Given the description of an element on the screen output the (x, y) to click on. 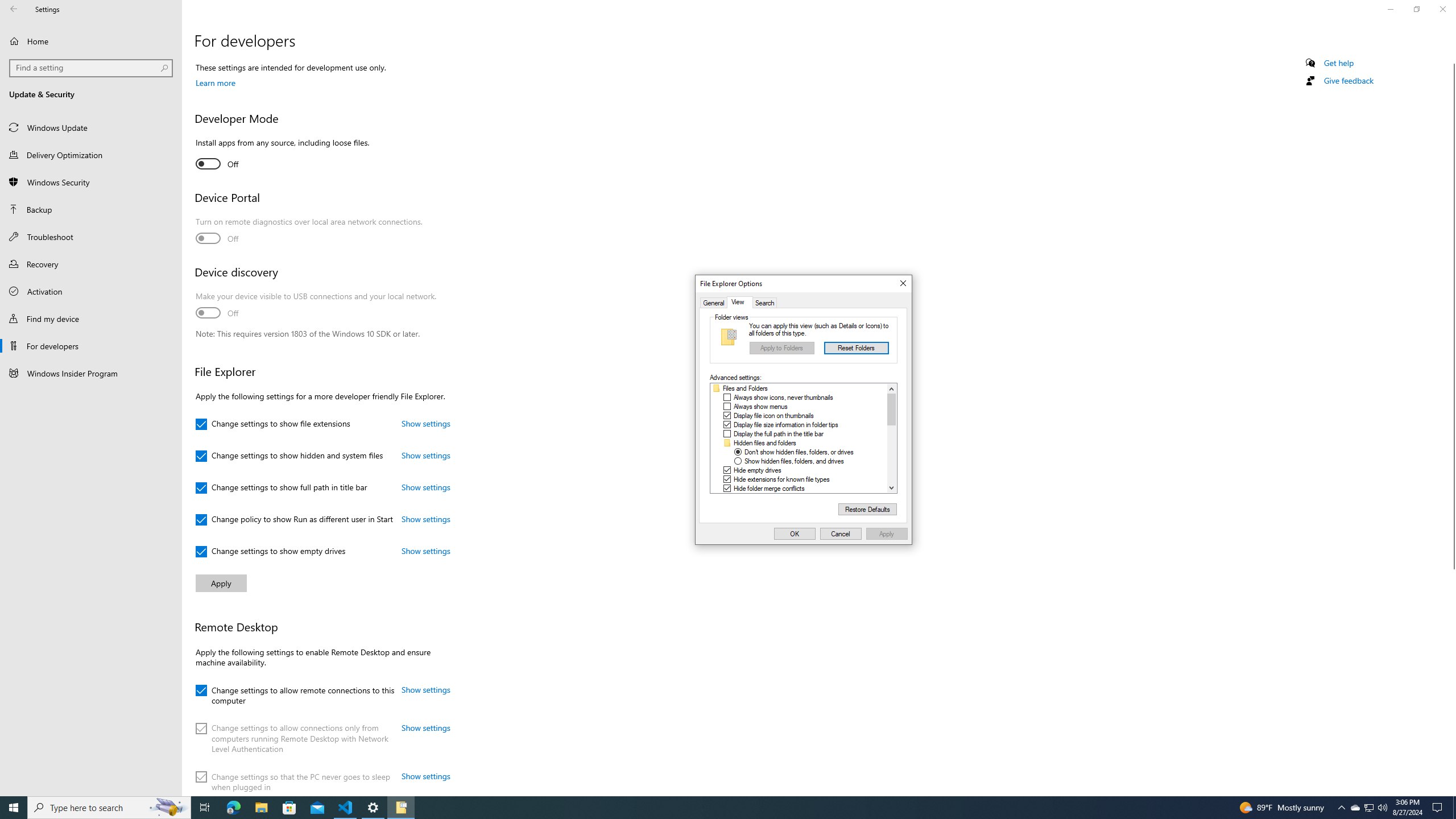
Hidden files and folders (764, 442)
Line up (891, 388)
Line down (891, 487)
Cancel (840, 533)
Restore Defaults (866, 508)
OK (794, 533)
Apply (887, 533)
Running applications (717, 807)
Always show icons, never thumbnails (783, 397)
